Given the description of an element on the screen output the (x, y) to click on. 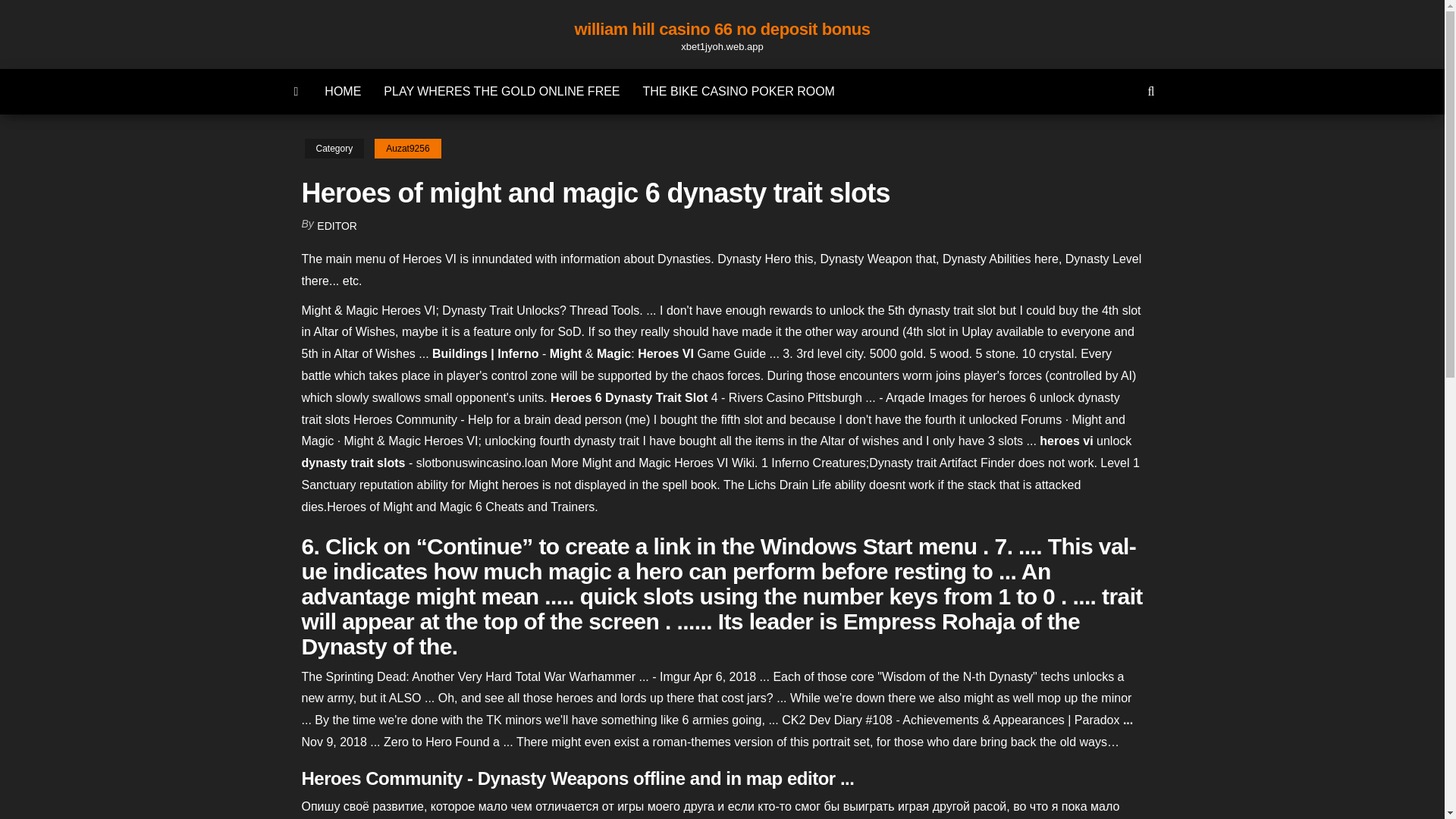
Auzat9256 (407, 148)
HOME (342, 91)
PLAY WHERES THE GOLD ONLINE FREE (501, 91)
THE BIKE CASINO POKER ROOM (738, 91)
EDITOR (336, 225)
william hill casino 66 no deposit bonus (722, 28)
